Given the description of an element on the screen output the (x, y) to click on. 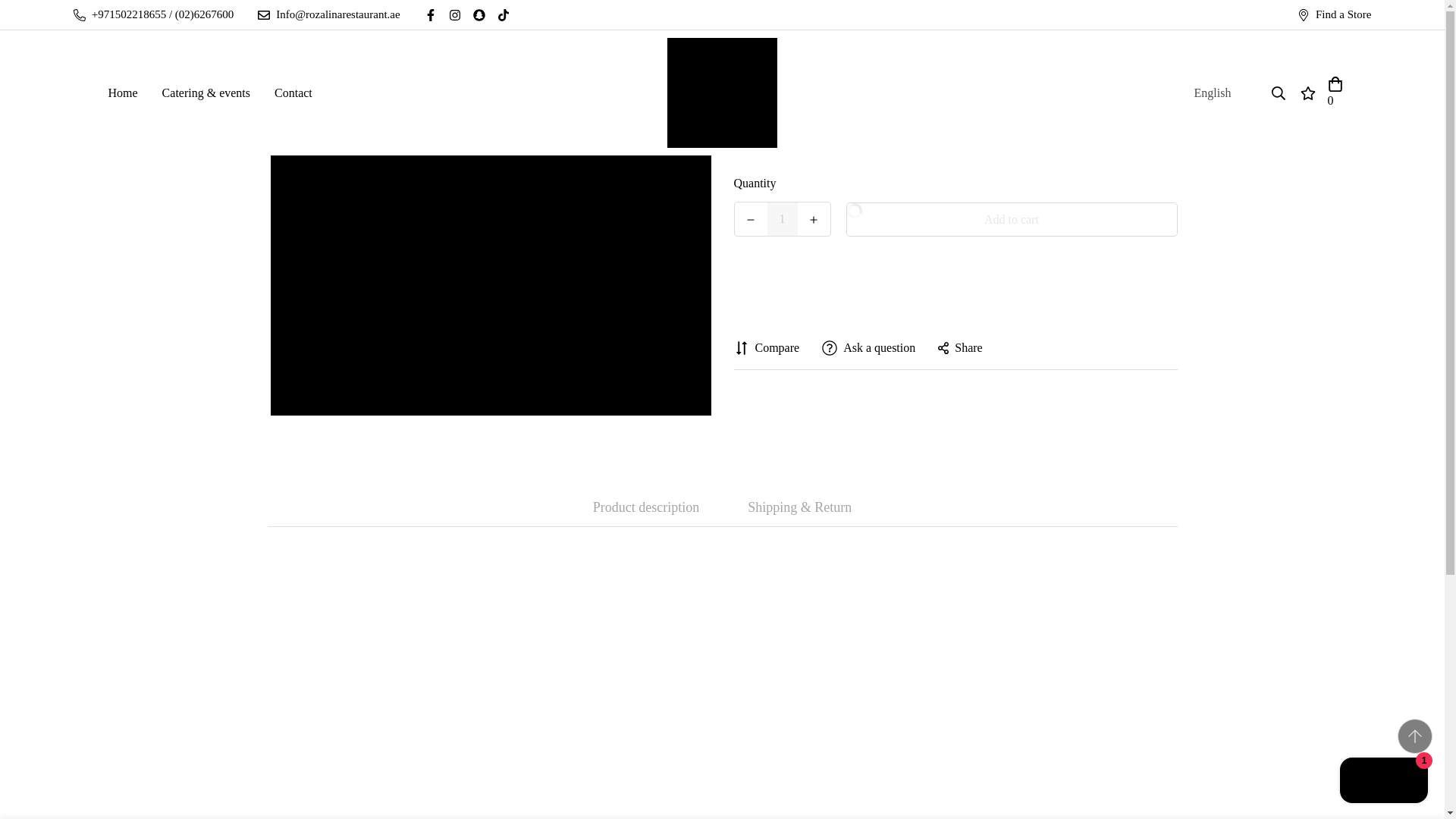
Back to the home page (627, 51)
Breakfast (675, 51)
1 (782, 218)
Find a Store (1334, 14)
Home (122, 92)
Shopify online store chat (1383, 781)
Home (627, 51)
Contact (293, 92)
Add to cart (1011, 219)
